Given the description of an element on the screen output the (x, y) to click on. 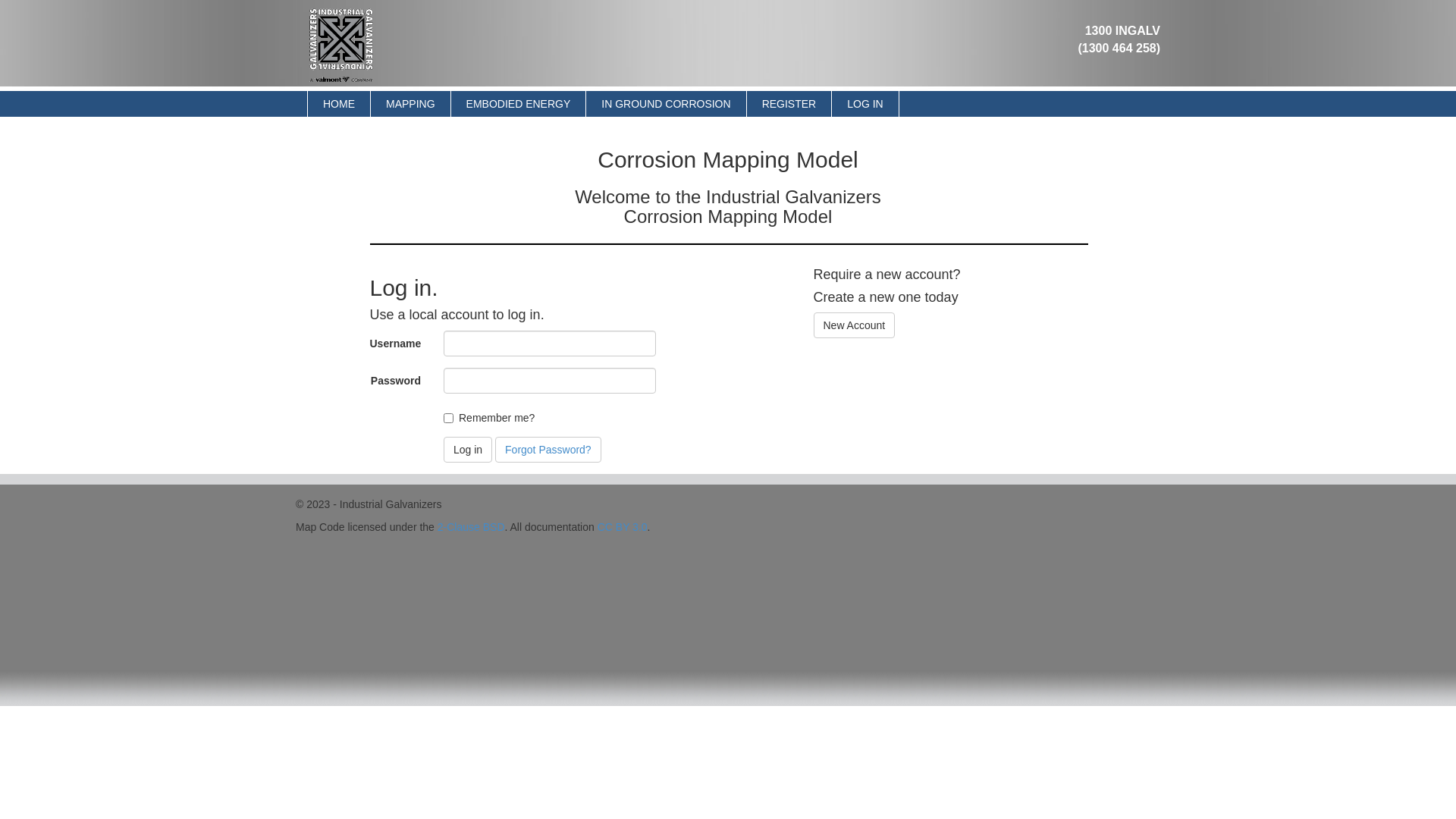
CC BY 3.0 Element type: text (622, 526)
HOME Element type: text (338, 103)
2-Clause BSD Element type: text (471, 526)
Log in Element type: text (467, 449)
IN GROUND CORROSION Element type: text (665, 103)
Forgot Password? Element type: text (548, 449)
LOG IN Element type: text (864, 103)
New Account Element type: text (854, 325)
EMBODIED ENERGY Element type: text (518, 103)
MAPPING Element type: text (410, 103)
REGISTER Element type: text (788, 103)
